Given the description of an element on the screen output the (x, y) to click on. 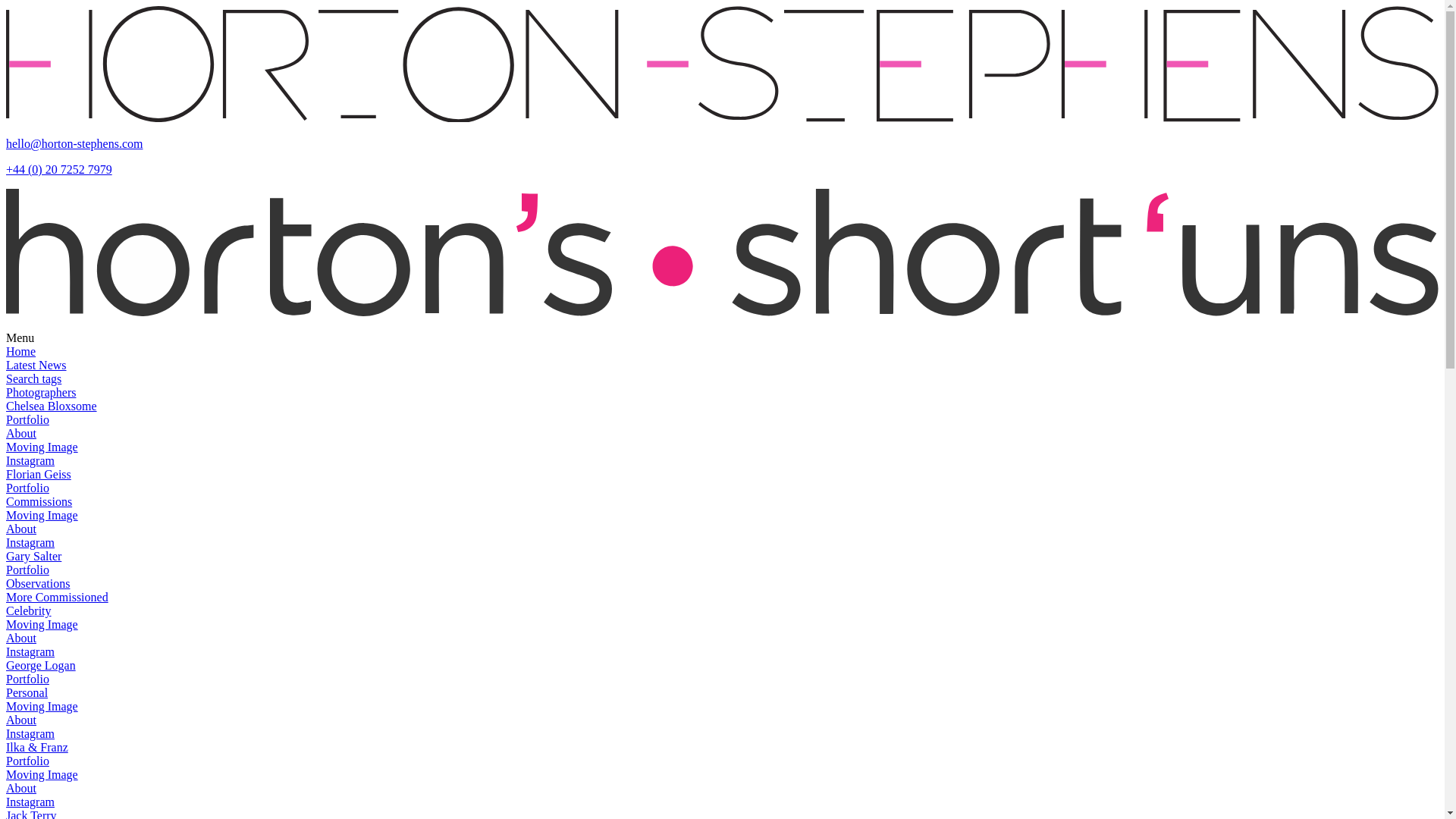
Portfolio (27, 487)
Home (19, 350)
Instagram (30, 651)
About (20, 637)
Moving Image (41, 514)
Observations (37, 583)
George Logan (40, 665)
Menu (19, 337)
Moving Image (41, 774)
About (20, 528)
More Commissioned (56, 596)
About (20, 719)
Instagram (30, 733)
Moving Image (41, 706)
Portfolio (27, 419)
